Given the description of an element on the screen output the (x, y) to click on. 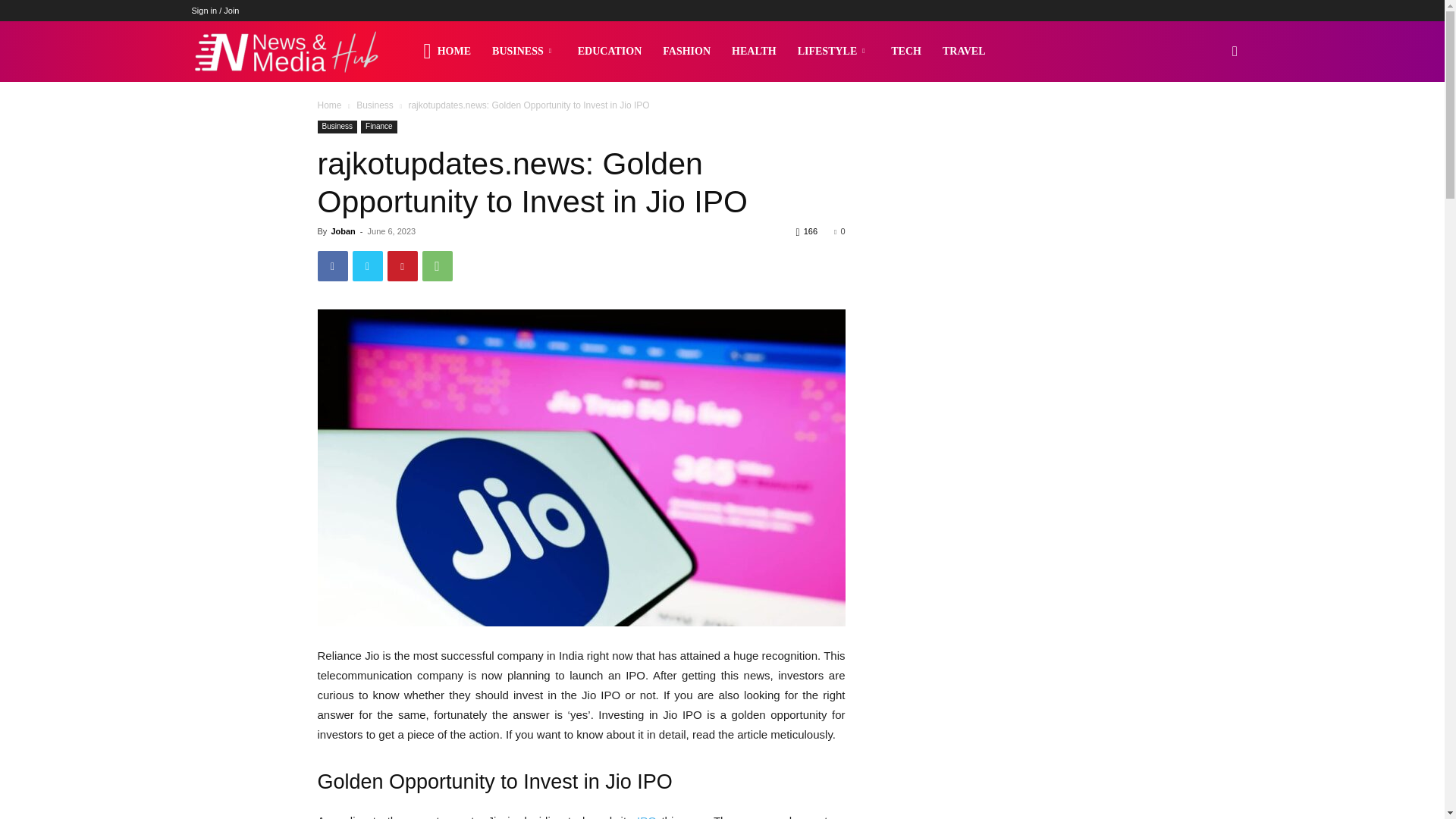
Twitter (366, 265)
Pinterest (401, 265)
FASHION (686, 51)
LIFESTYLE (833, 51)
TRAVEL (963, 51)
BUSINESS (524, 51)
Home (328, 104)
Search (1210, 124)
News and Media Hub (285, 51)
EDUCATION (609, 51)
WhatsApp (436, 265)
HOME (446, 51)
Facebook (332, 265)
View all posts in Business (374, 104)
